Given the description of an element on the screen output the (x, y) to click on. 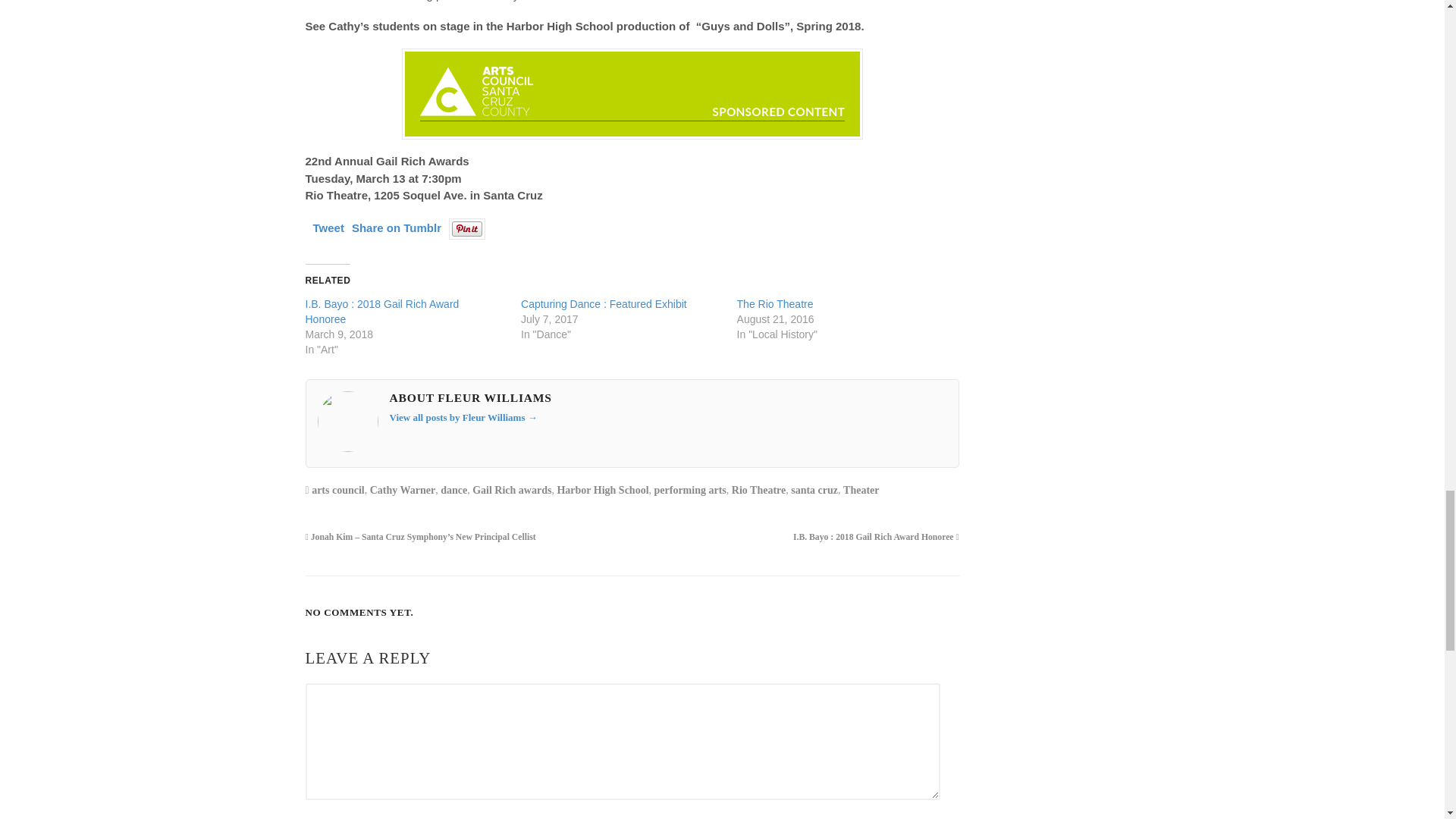
Tweet (328, 227)
I.B. Bayo : 2018 Gail Rich Award Honoree (381, 311)
Share on Tumblr (396, 227)
Share on Tumblr (396, 227)
